Given the description of an element on the screen output the (x, y) to click on. 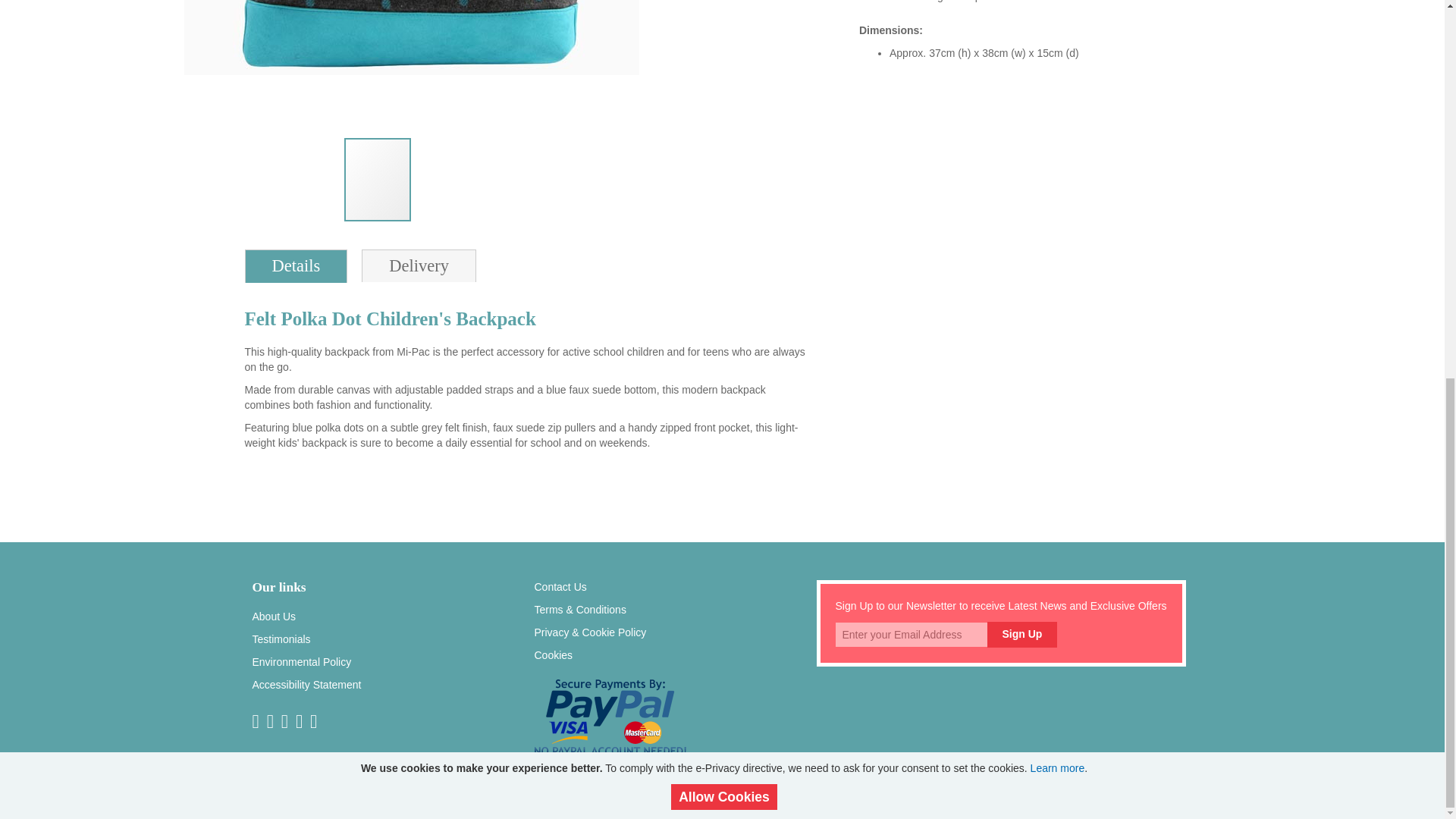
Allow Cookies (724, 98)
Sign Up (1022, 634)
Learn more (1057, 69)
